Given the description of an element on the screen output the (x, y) to click on. 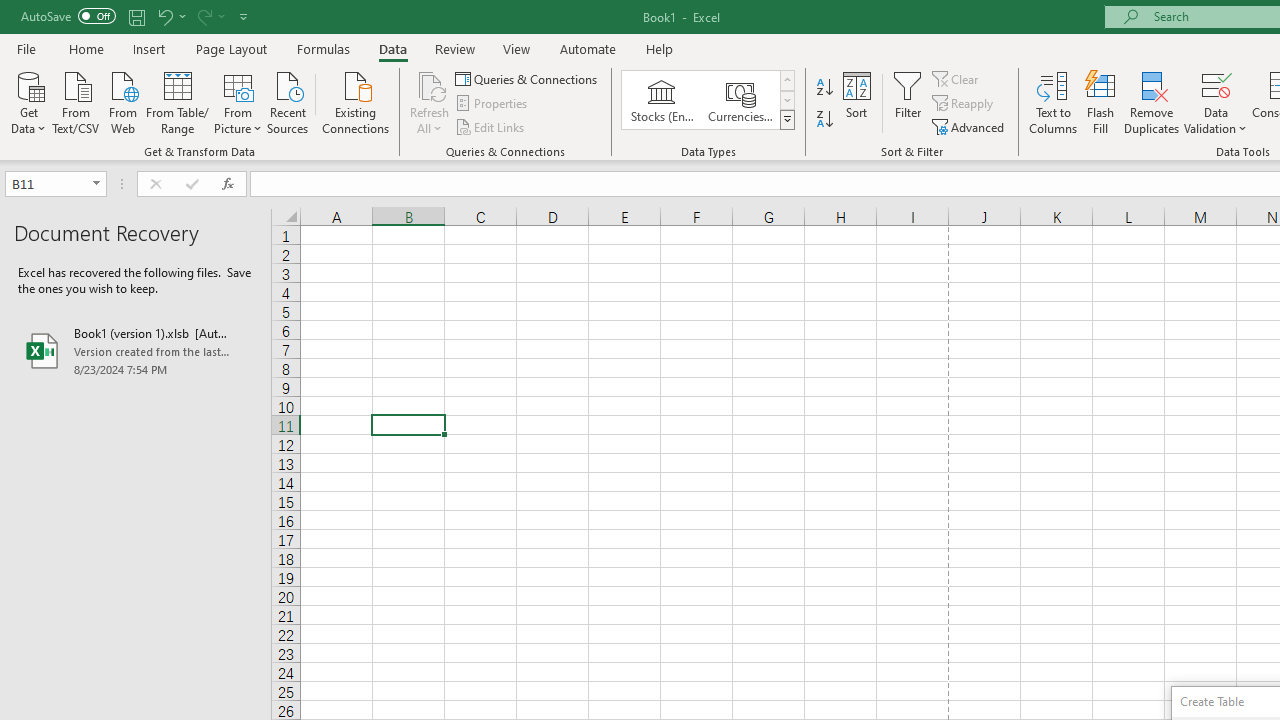
Text to Columns... (1053, 102)
From Text/CSV (75, 101)
Row up (786, 79)
Existing Connections (355, 101)
Data Types (786, 120)
AutomationID: ConvertToLinkedEntity (708, 99)
